Given the description of an element on the screen output the (x, y) to click on. 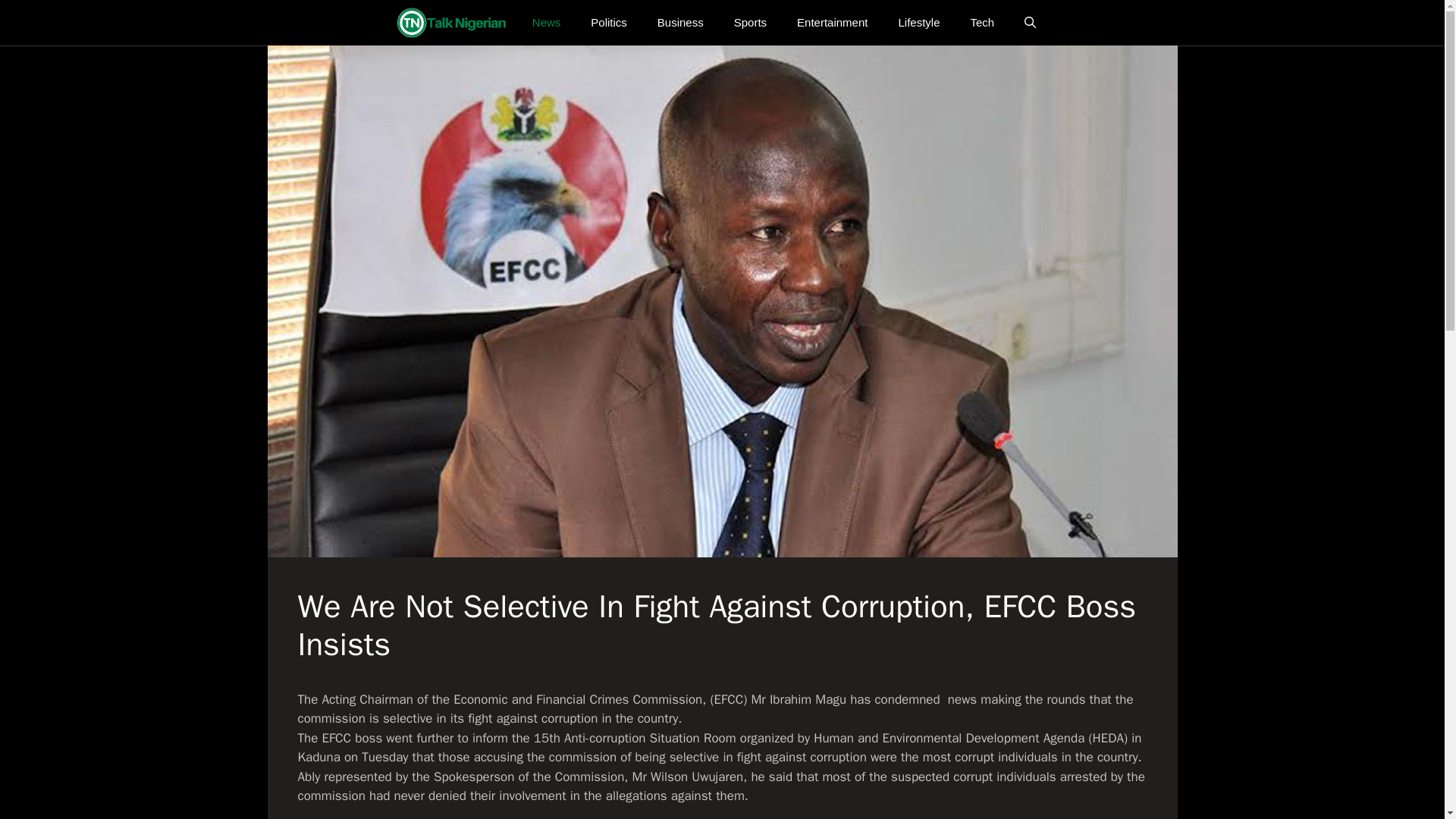
Tech (982, 22)
Talk Nigerian (451, 22)
Politics (608, 22)
Lifestyle (918, 22)
Sports (750, 22)
News (546, 22)
Entertainment (831, 22)
Business (680, 22)
